Given the description of an element on the screen output the (x, y) to click on. 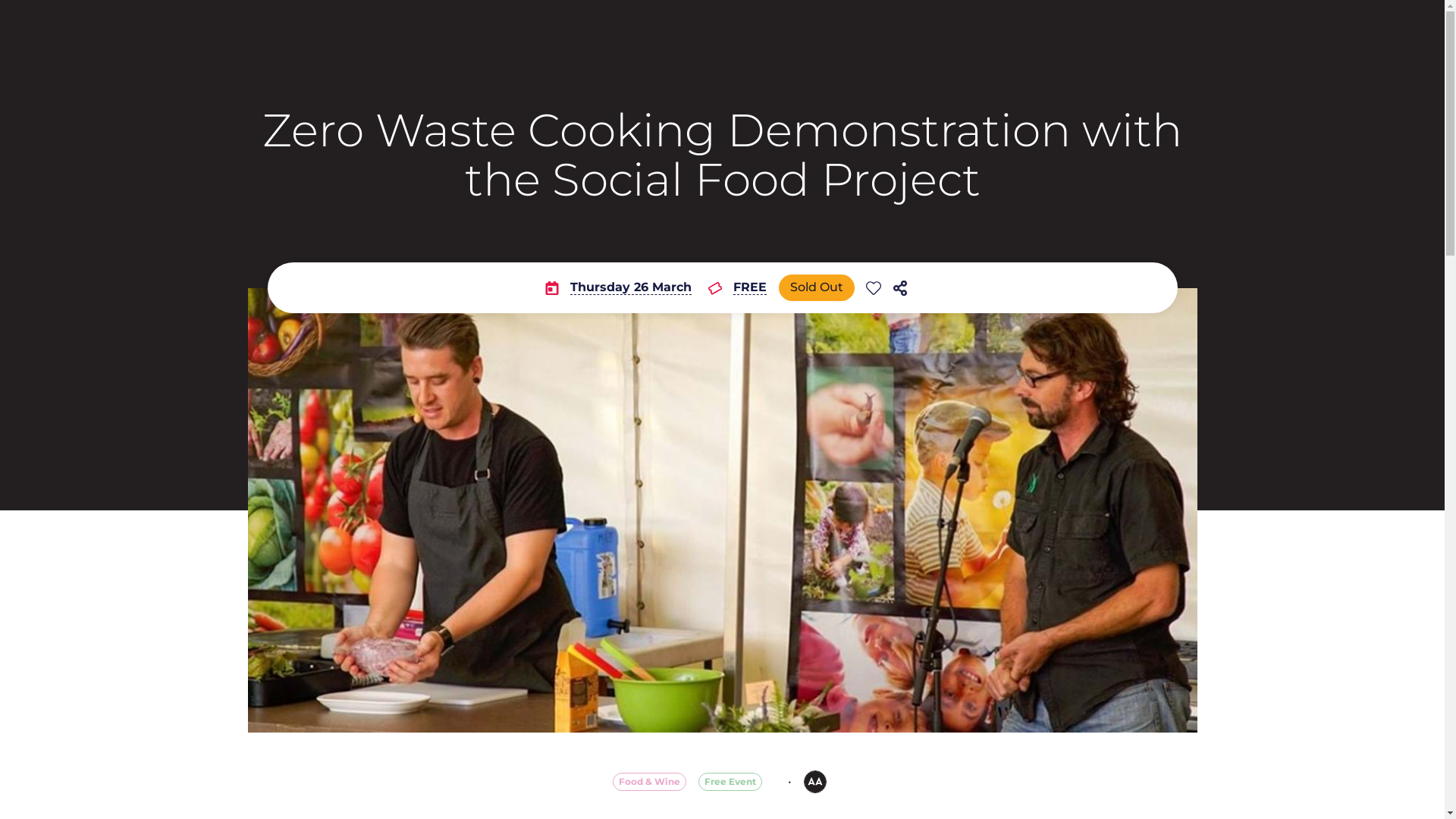
Food & Wine Element type: text (649, 781)
Launch page sharing overlay Element type: text (899, 287)
FREE Element type: text (737, 287)
Thursday 26 March Element type: text (618, 287)
Free Event Element type: text (730, 781)
Add event to favourites list Element type: text (873, 287)
Sold Out Element type: text (816, 287)
